Given the description of an element on the screen output the (x, y) to click on. 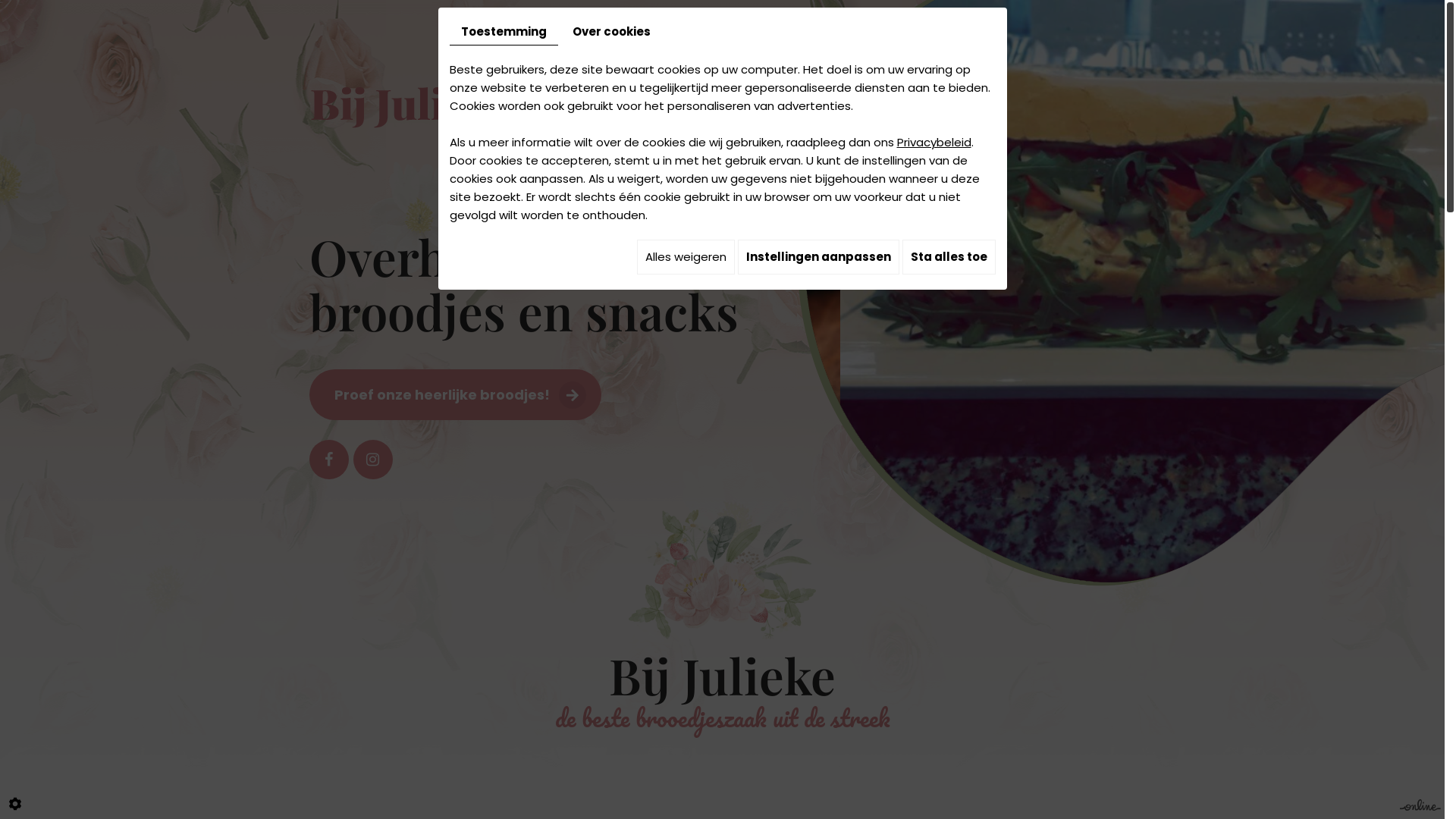
Alles weigeren Element type: text (685, 256)
Proef onze heerlijke broodjes! Element type: text (455, 394)
Privacybeleid Element type: text (933, 142)
Toestemming Element type: text (502, 31)
Cookie-instelling bewerken Element type: text (14, 803)
Zoeken Element type: text (864, 420)
Instellingen aanpassen Element type: text (817, 256)
Over cookies Element type: text (611, 31)
Sta alles toe Element type: text (948, 256)
